Given the description of an element on the screen output the (x, y) to click on. 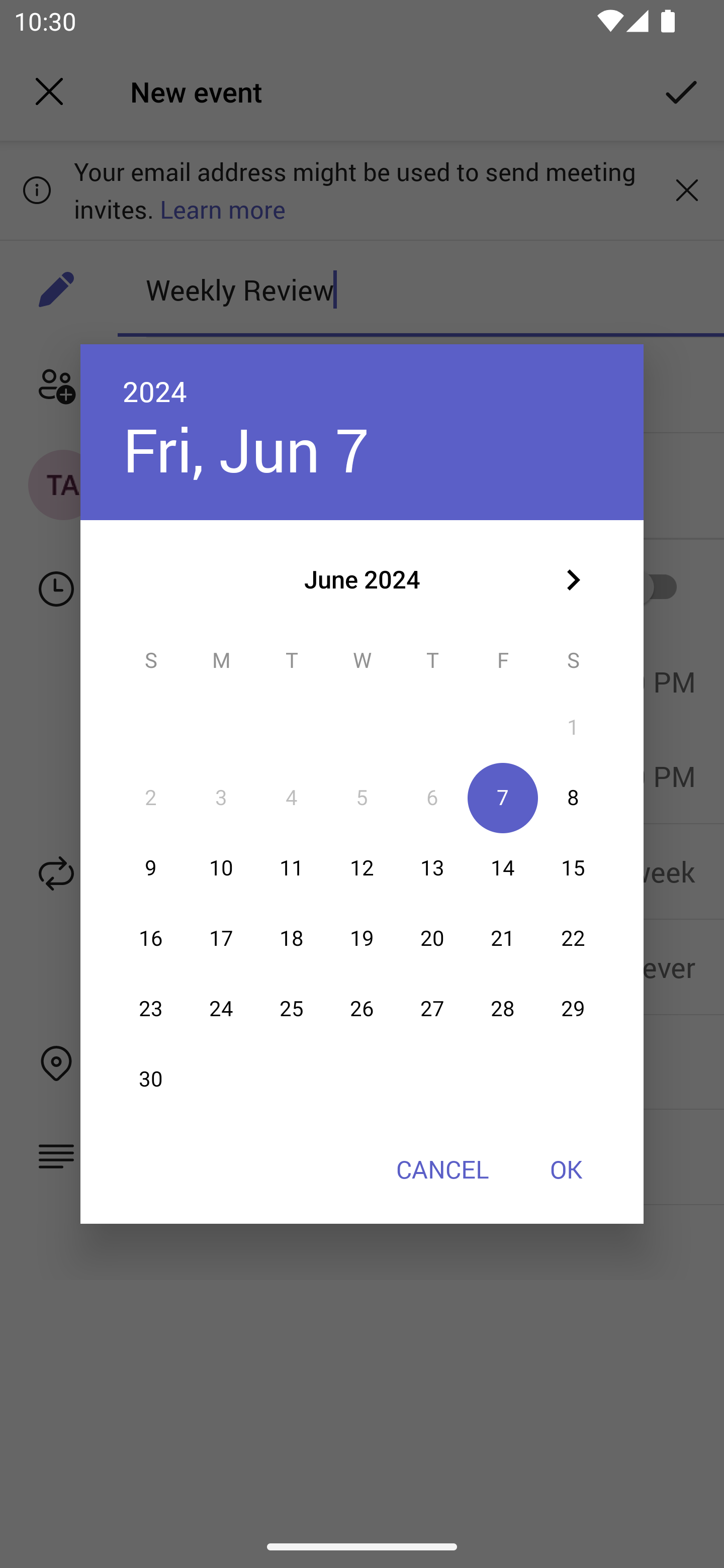
2024 (154, 391)
Fri, Jun 7 (245, 449)
Next month (572, 579)
1 01 June 2024 (572, 728)
2 02 June 2024 (150, 797)
3 03 June 2024 (221, 797)
4 04 June 2024 (291, 797)
5 05 June 2024 (361, 797)
6 06 June 2024 (432, 797)
7 07 June 2024 (502, 797)
8 08 June 2024 (572, 797)
9 09 June 2024 (150, 867)
10 10 June 2024 (221, 867)
11 11 June 2024 (291, 867)
12 12 June 2024 (361, 867)
13 13 June 2024 (432, 867)
14 14 June 2024 (502, 867)
15 15 June 2024 (572, 867)
16 16 June 2024 (150, 938)
17 17 June 2024 (221, 938)
18 18 June 2024 (291, 938)
19 19 June 2024 (361, 938)
20 20 June 2024 (432, 938)
21 21 June 2024 (502, 938)
22 22 June 2024 (572, 938)
23 23 June 2024 (150, 1008)
24 24 June 2024 (221, 1008)
25 25 June 2024 (291, 1008)
26 26 June 2024 (361, 1008)
27 27 June 2024 (432, 1008)
28 28 June 2024 (502, 1008)
29 29 June 2024 (572, 1008)
30 30 June 2024 (150, 1079)
CANCEL (442, 1168)
OK (565, 1168)
